Given the description of an element on the screen output the (x, y) to click on. 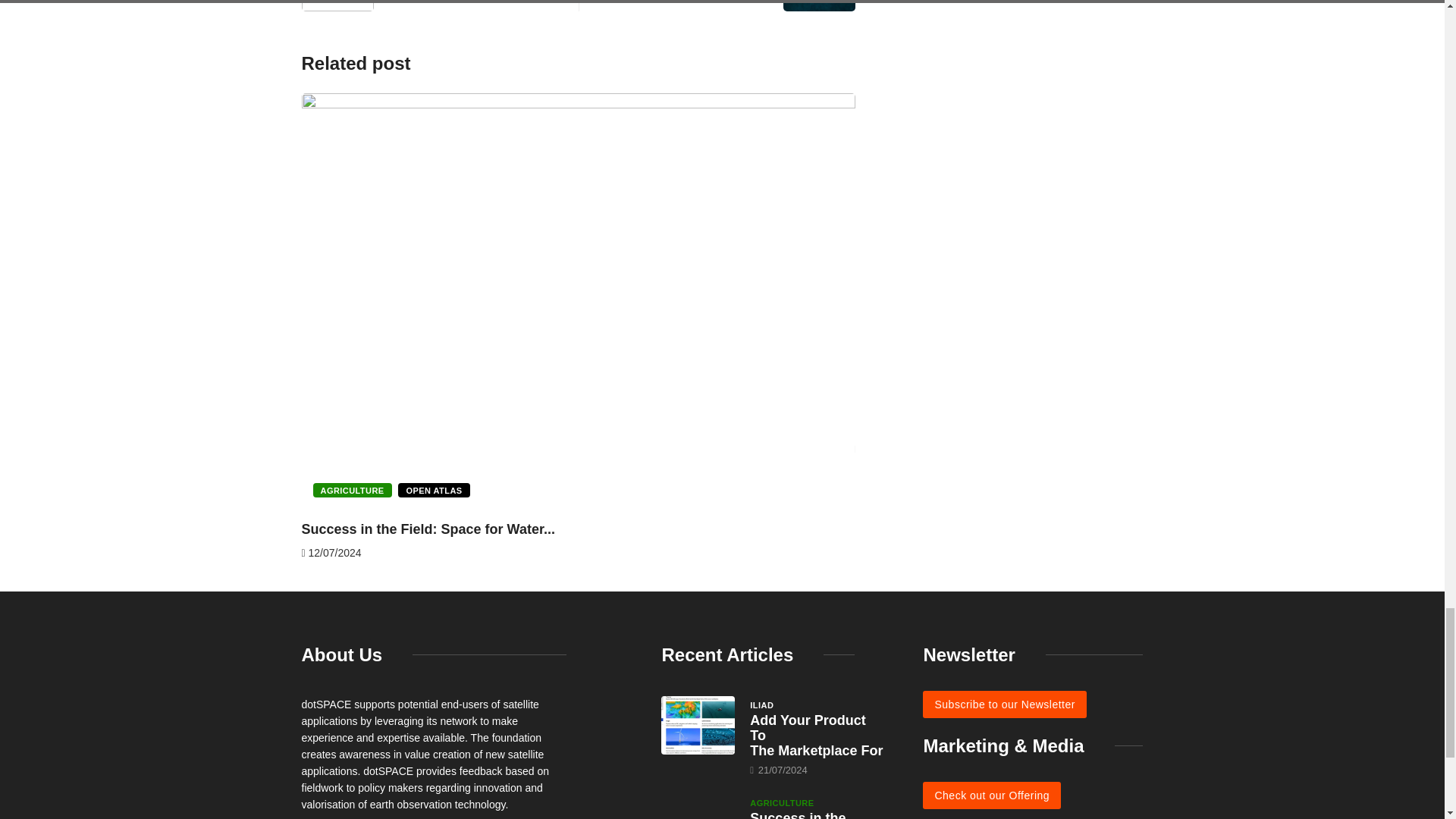
Success in the Field: Space for Water and Food Security (698, 806)
